Given the description of an element on the screen output the (x, y) to click on. 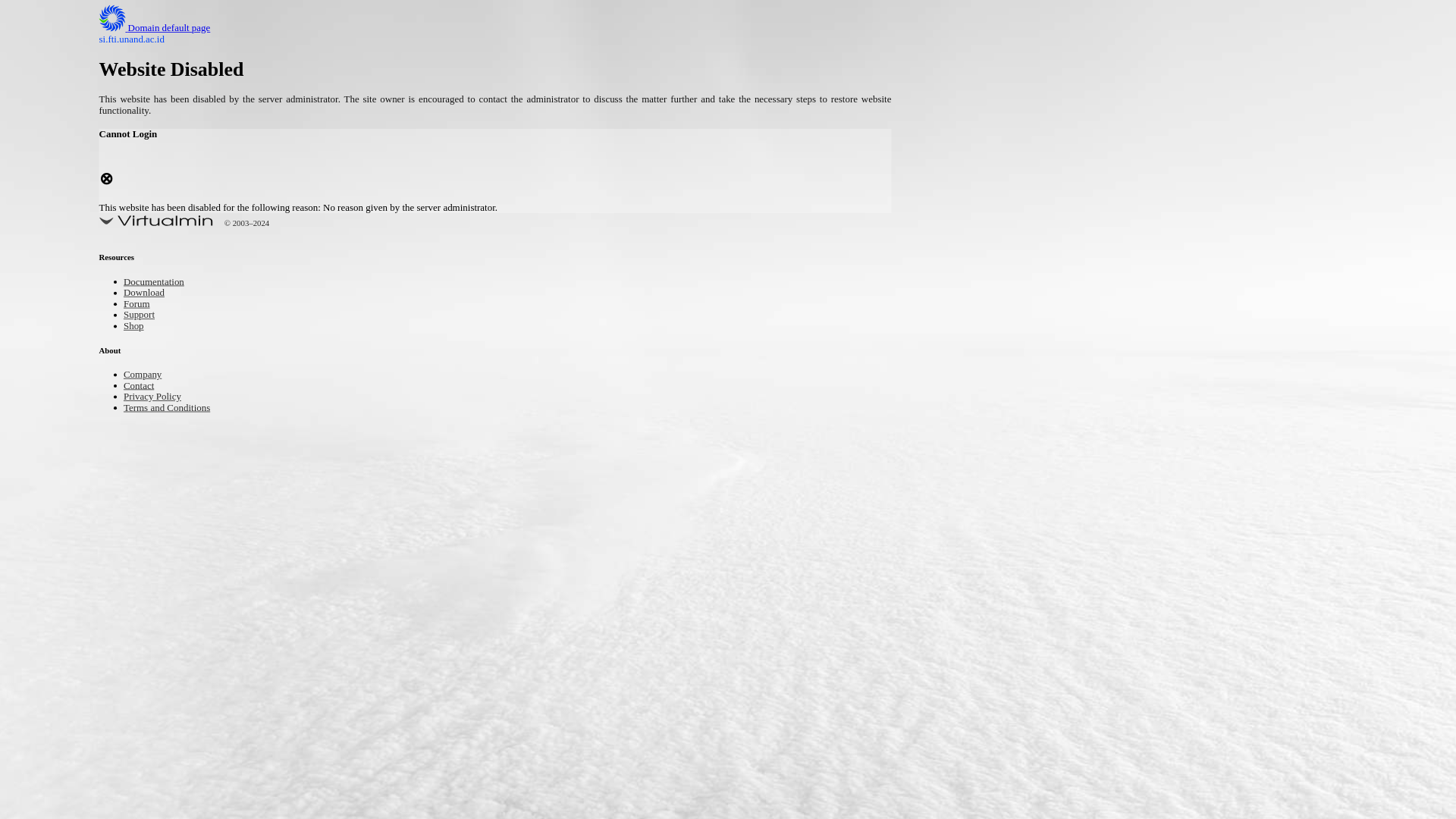
Domain default page (167, 29)
Download (148, 293)
Terms and Conditions (176, 408)
Support (142, 315)
Forum (139, 305)
Company (146, 374)
Documentation (160, 282)
Contact (142, 386)
Shop (135, 327)
Privacy Policy (159, 397)
